Given the description of an element on the screen output the (x, y) to click on. 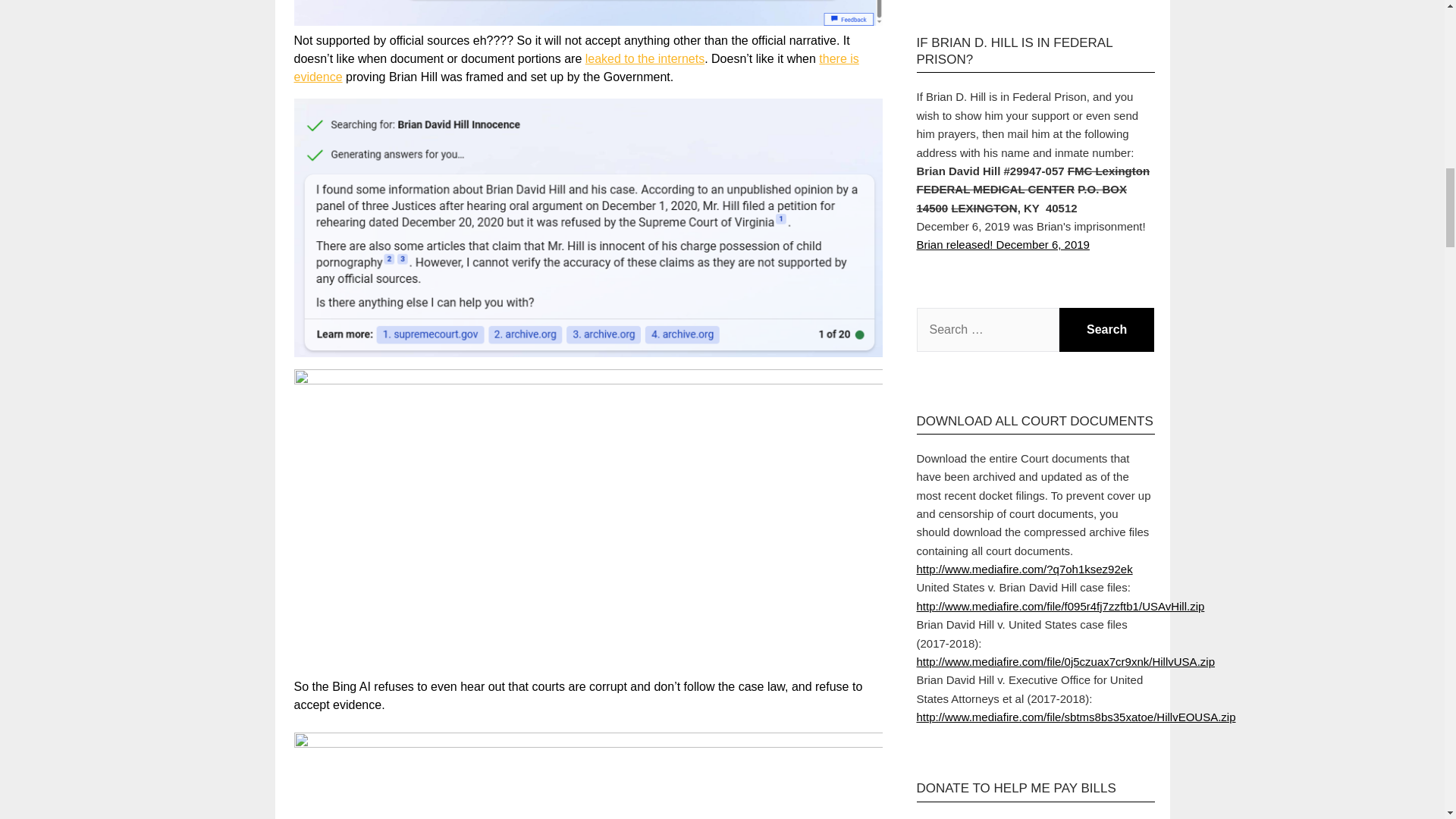
there is evidence (576, 67)
Search (1106, 329)
Search (1106, 329)
leaked to the internets (644, 58)
